Given the description of an element on the screen output the (x, y) to click on. 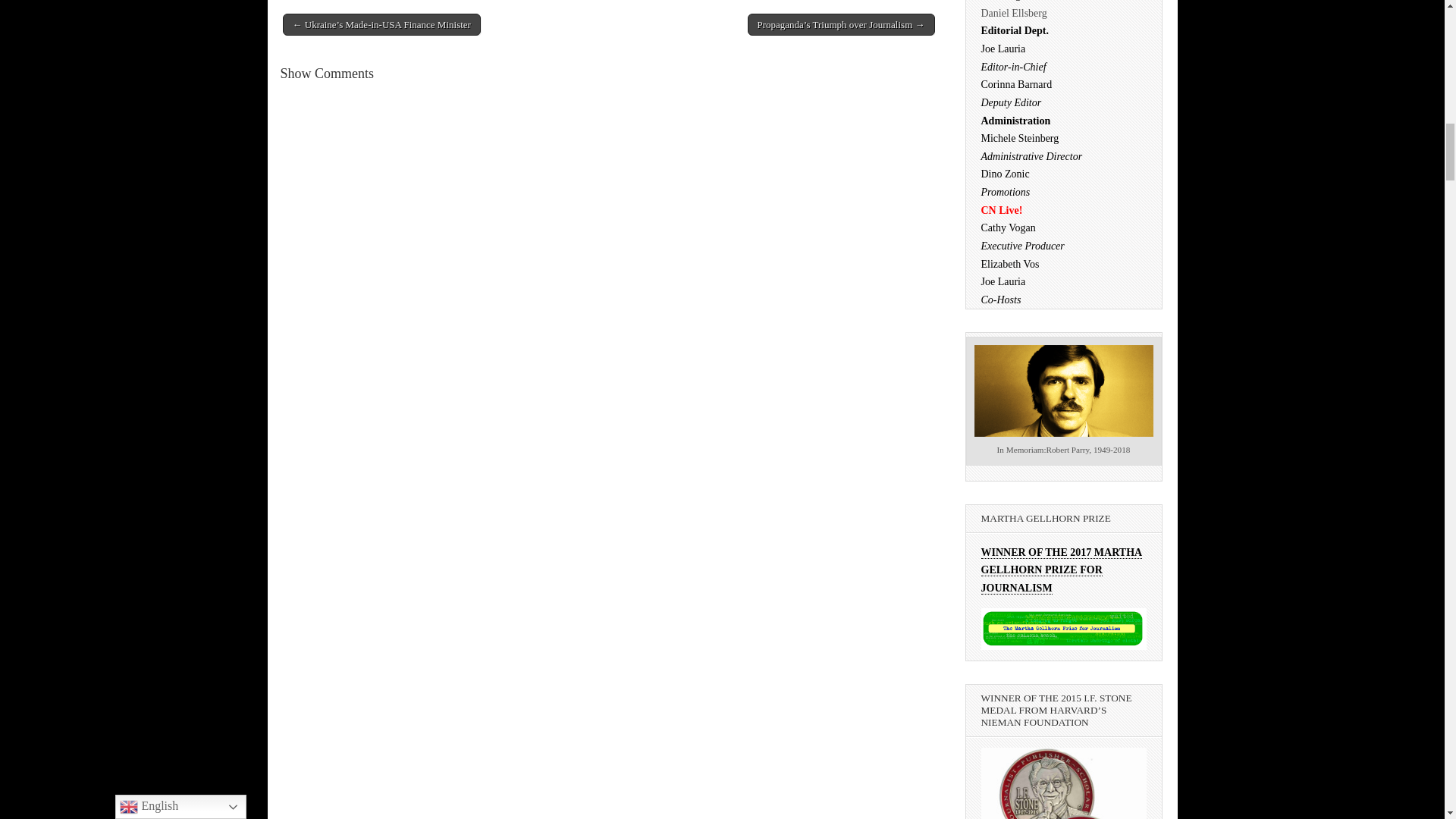
Show Comments (327, 73)
